Given the description of an element on the screen output the (x, y) to click on. 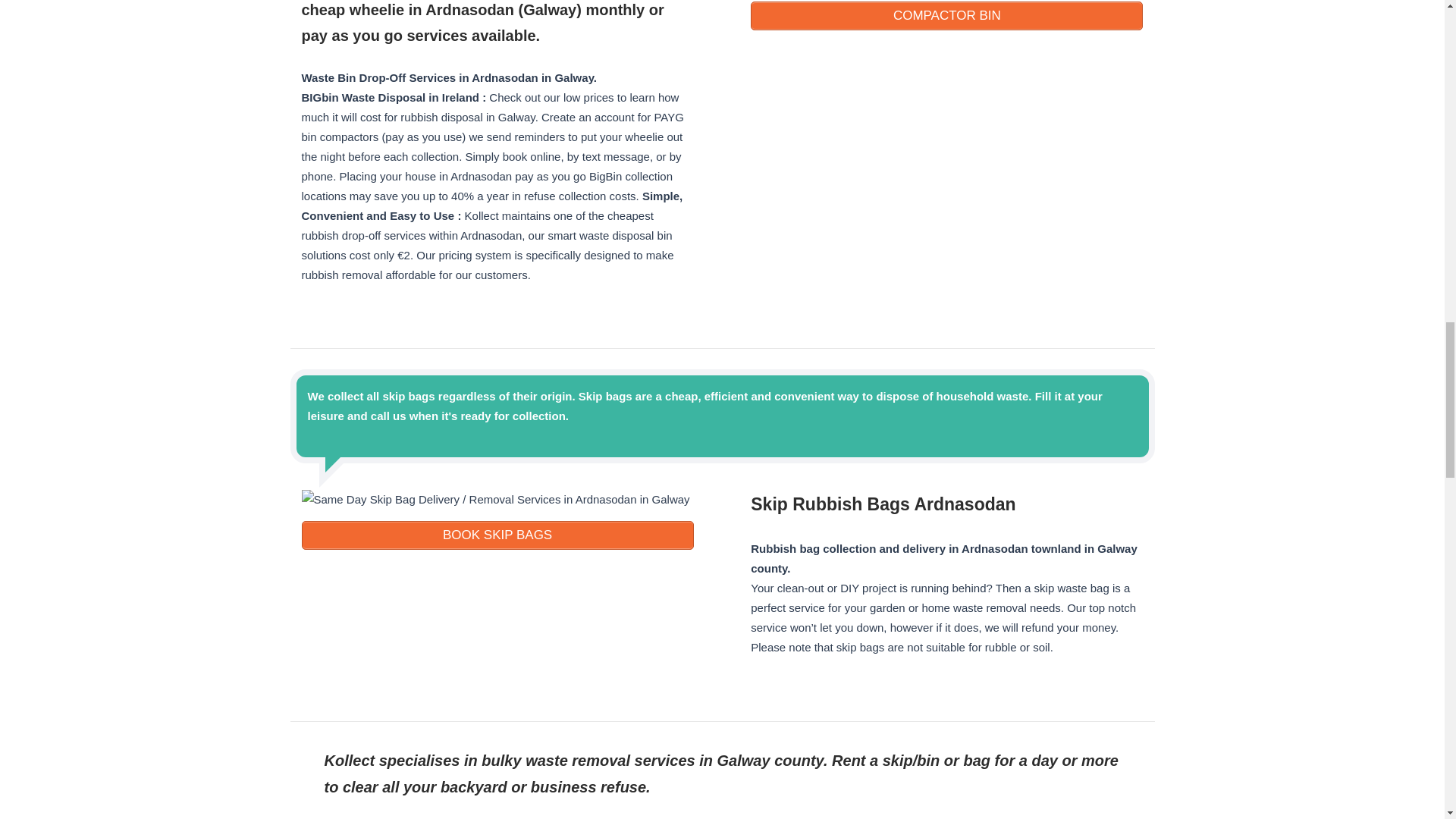
RENT RUBBISH BAGS (497, 534)
BOOK SKIP BAGS (497, 534)
COMPACTOR BIN (946, 15)
COMPACTOR BIN (946, 15)
